Given the description of an element on the screen output the (x, y) to click on. 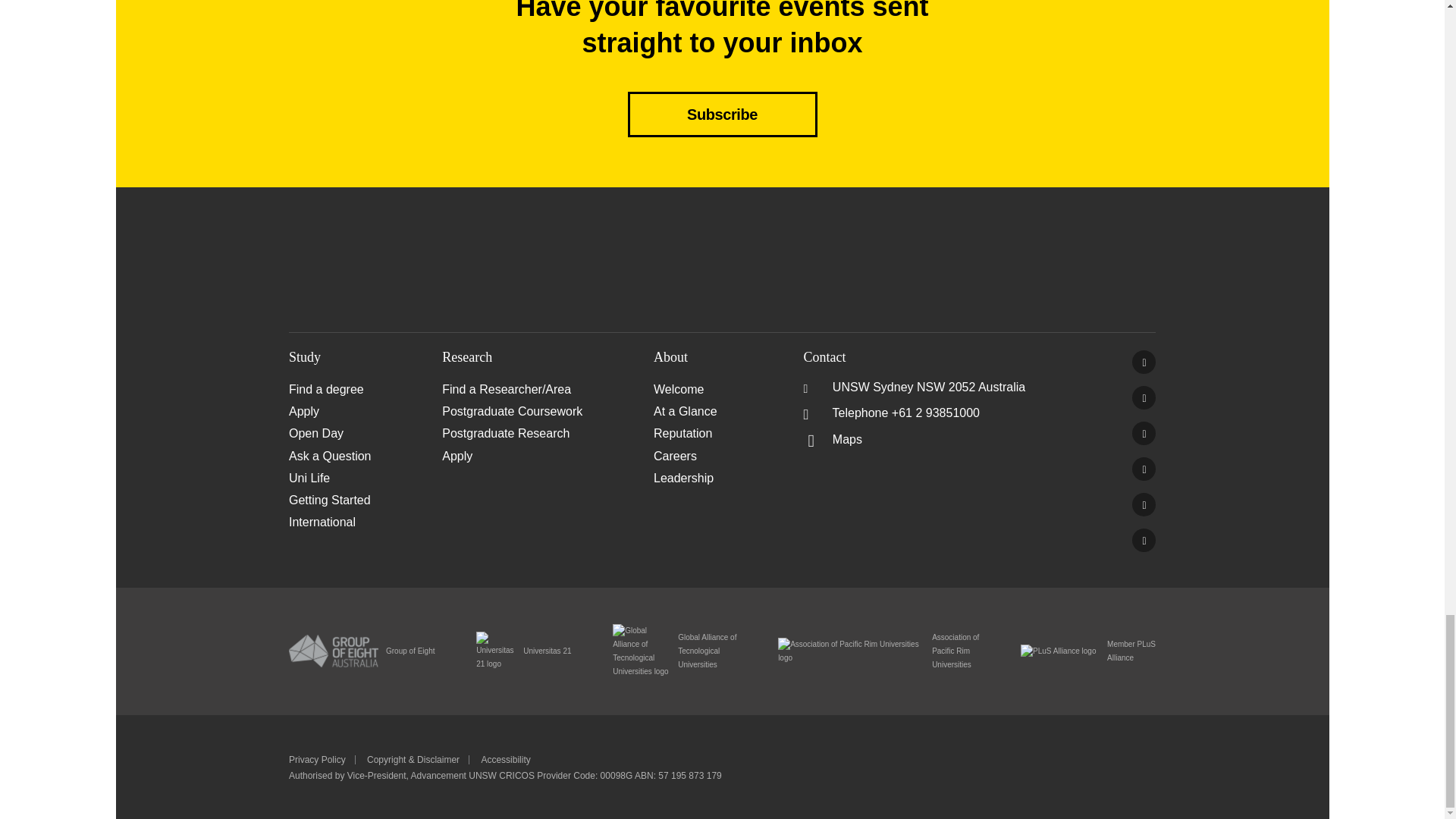
Group of Eight (360, 650)
International (365, 522)
Welcome (720, 389)
Find a degree (365, 389)
Twitter (1144, 397)
Careers (720, 455)
Youtube (1144, 468)
Uni Life (365, 477)
Getting Started (365, 499)
Ask a Question (365, 455)
